Given the description of an element on the screen output the (x, y) to click on. 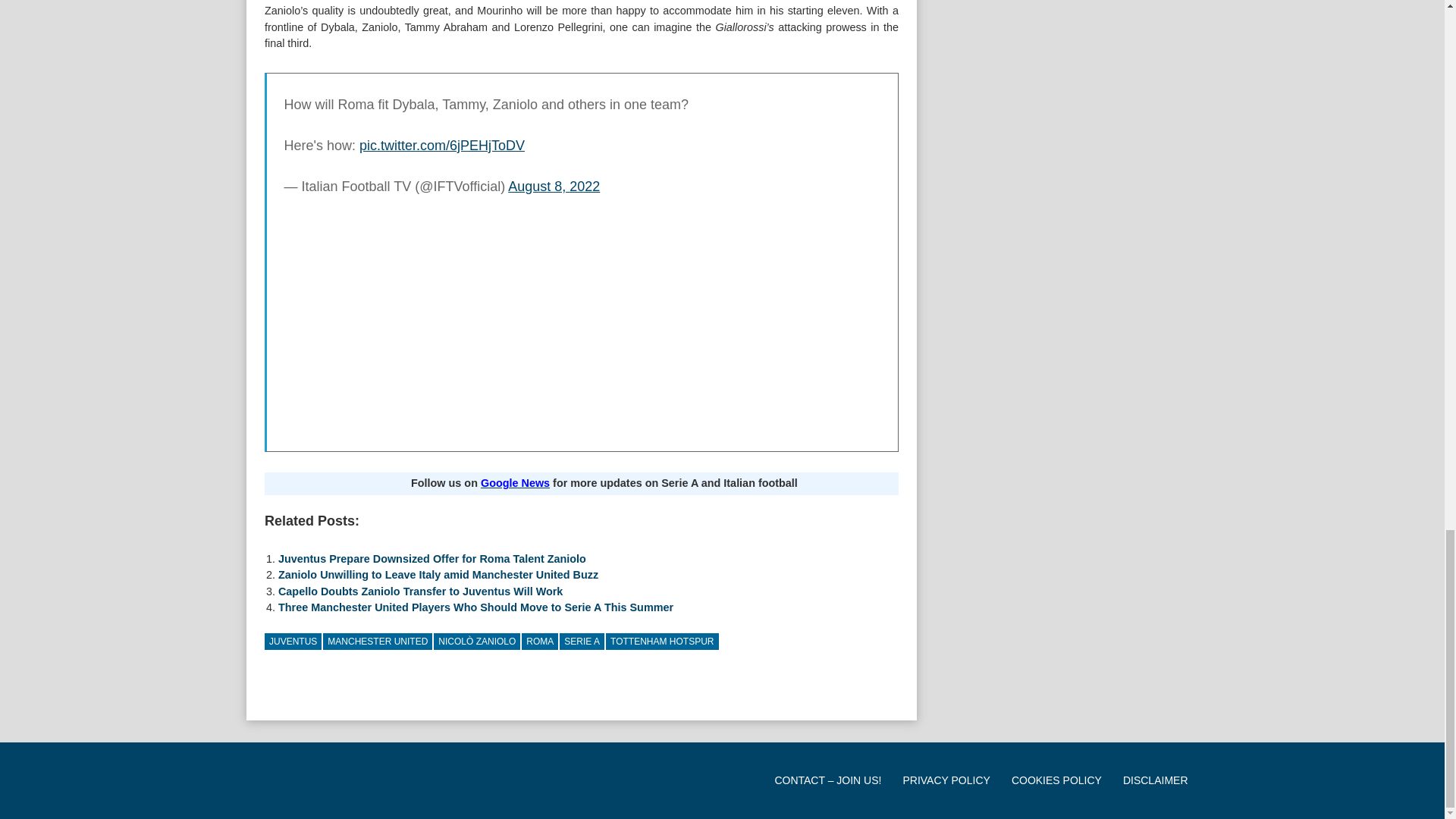
Juventus Prepare Downsized Offer for Roma Talent Zaniolo (432, 558)
Capello Doubts Zaniolo Transfer to Juventus Will Work (420, 591)
Zaniolo Unwilling to Leave Italy amid Manchester United Buzz (438, 574)
